Given the description of an element on the screen output the (x, y) to click on. 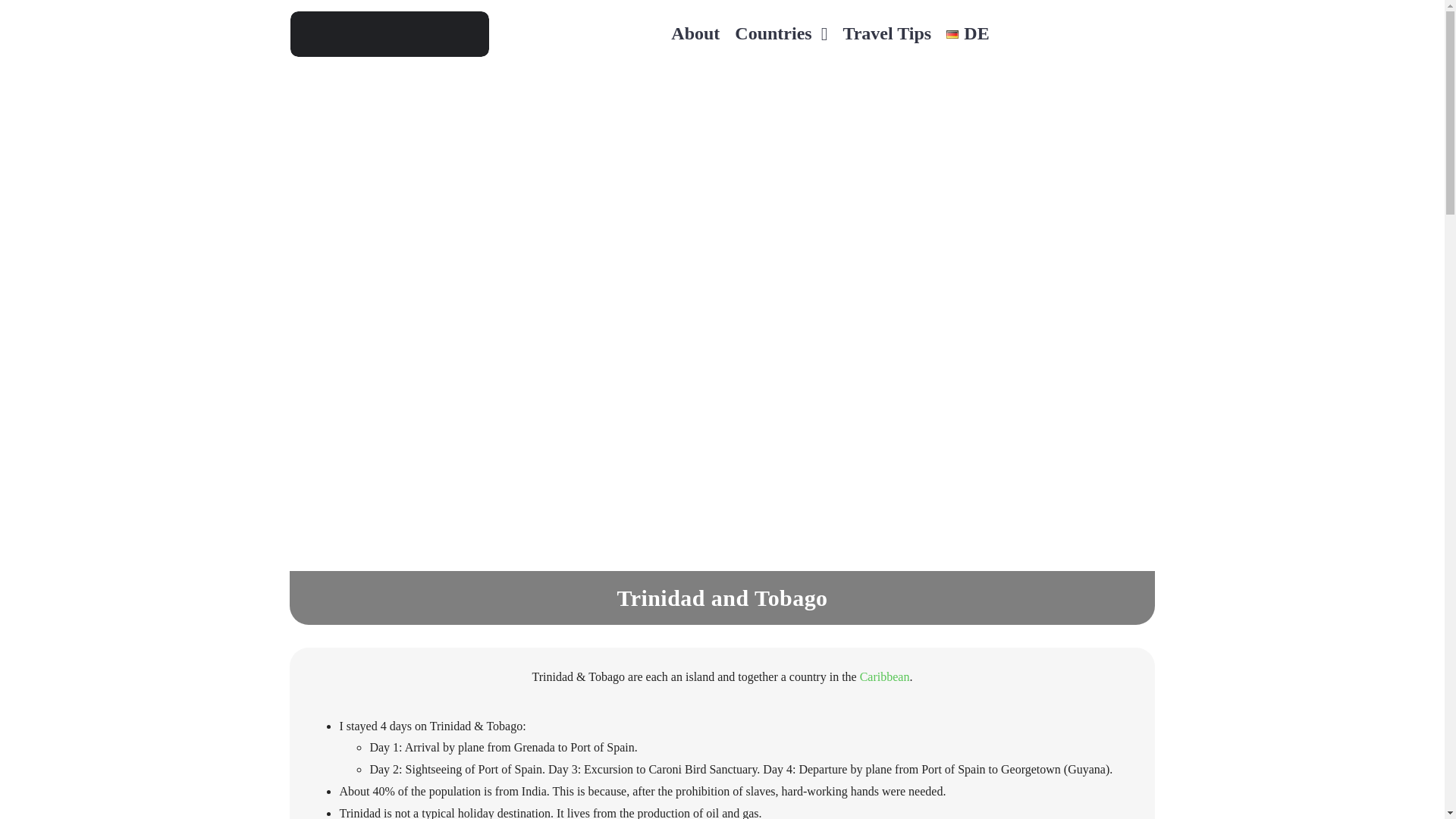
DE (968, 34)
Caribbean (885, 676)
Countries (780, 34)
About (694, 34)
Travel Tips (886, 34)
